Given the description of an element on the screen output the (x, y) to click on. 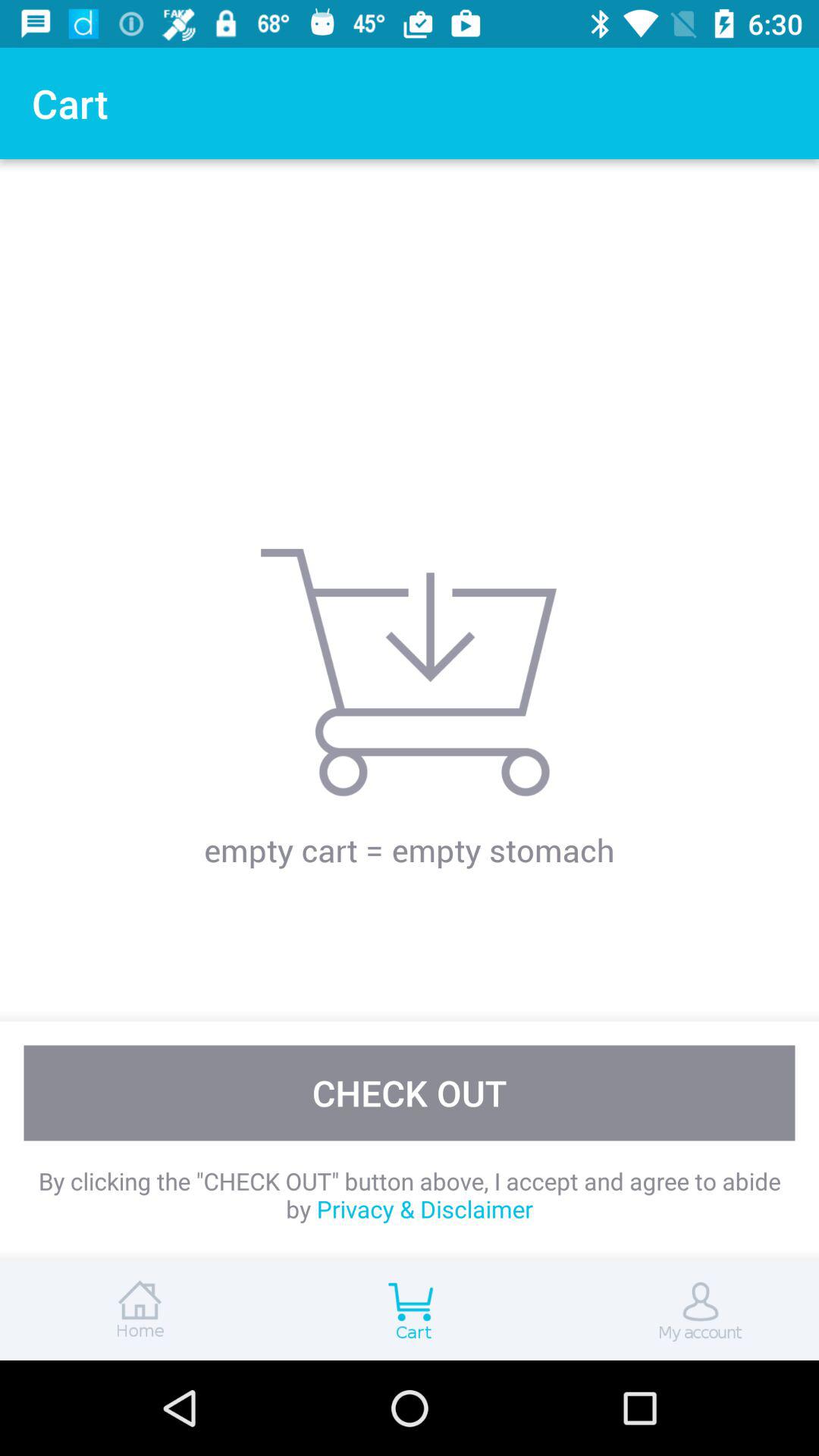
view shopping cart (409, 1310)
